Given the description of an element on the screen output the (x, y) to click on. 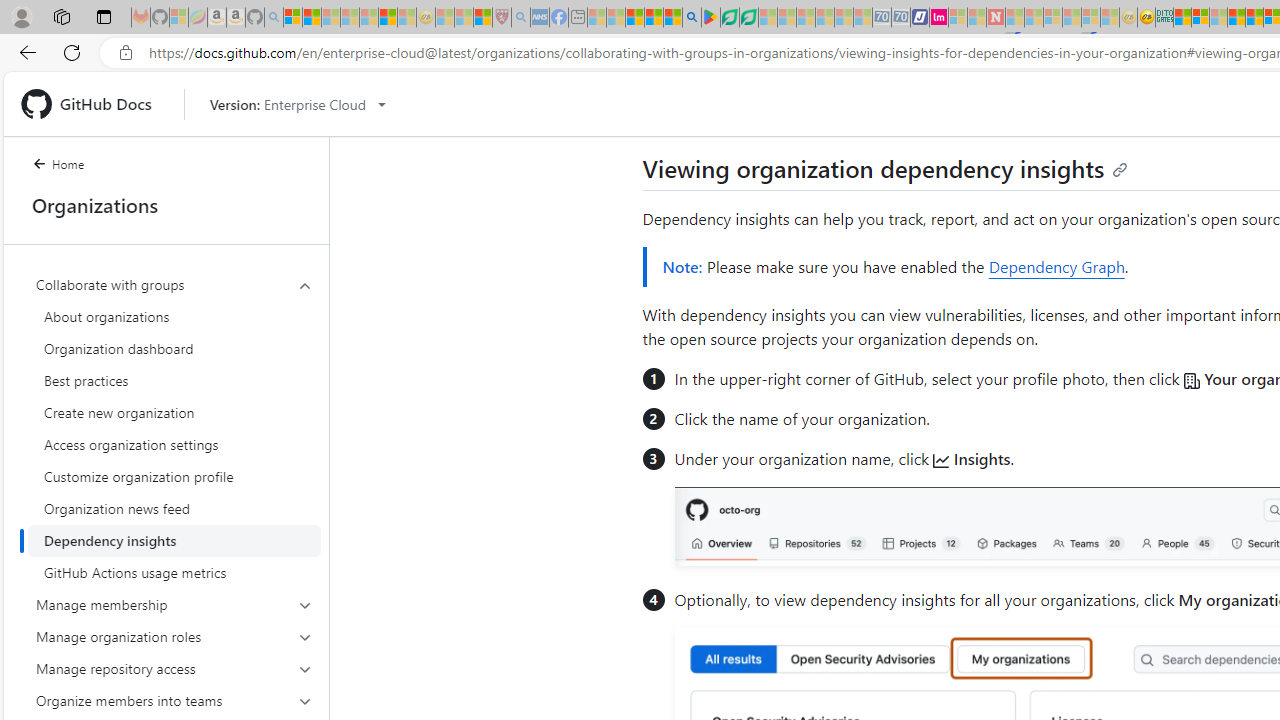
About organizations (174, 316)
Organization dashboard (174, 348)
Terms of Use Agreement (729, 17)
Organization news feed (174, 508)
Create new organization (174, 412)
